Given the description of an element on the screen output the (x, y) to click on. 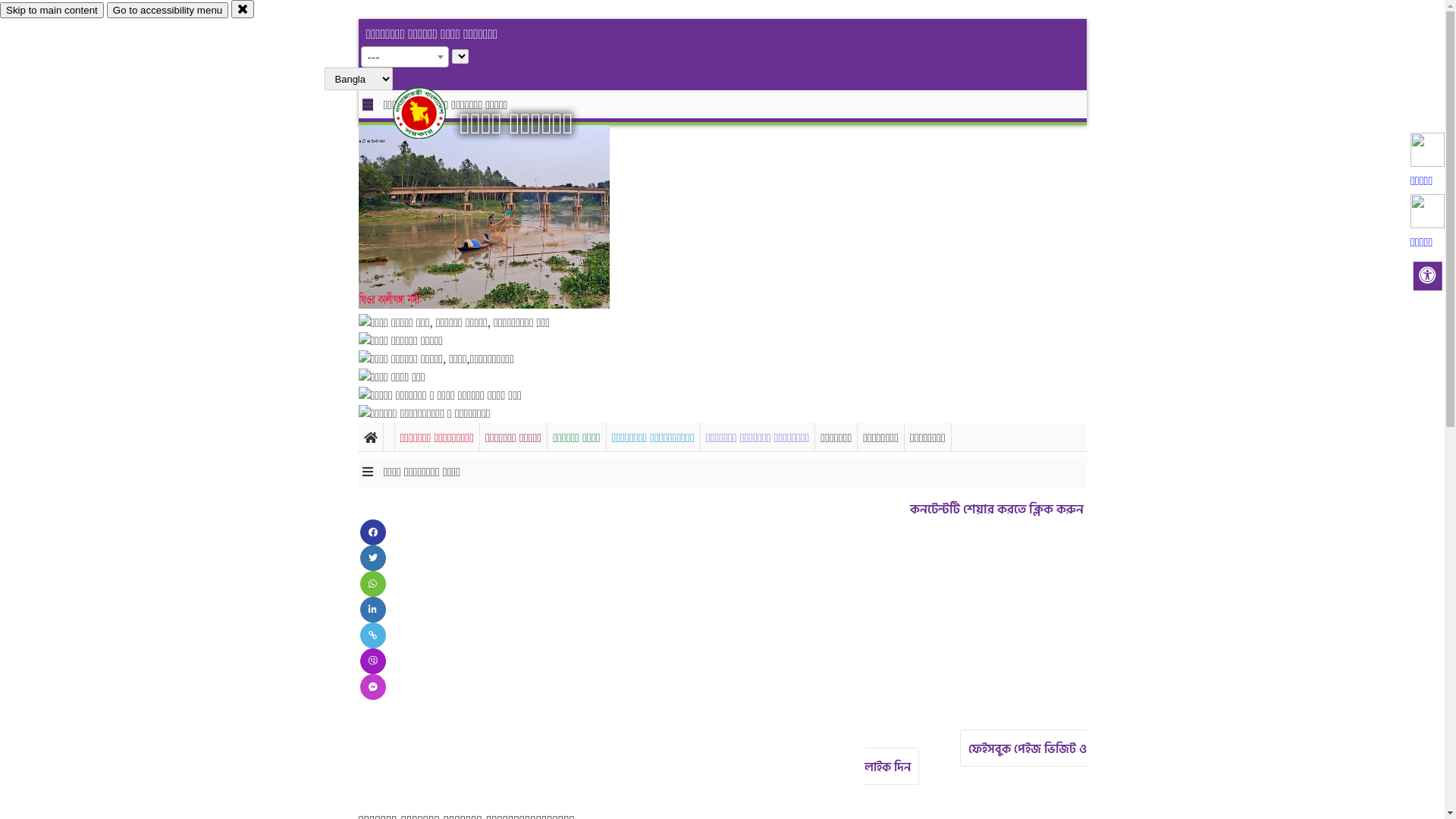

                
             Element type: hover (431, 112)
Go to accessibility menu Element type: text (167, 10)
close Element type: hover (242, 9)
Skip to main content Element type: text (51, 10)
